Given the description of an element on the screen output the (x, y) to click on. 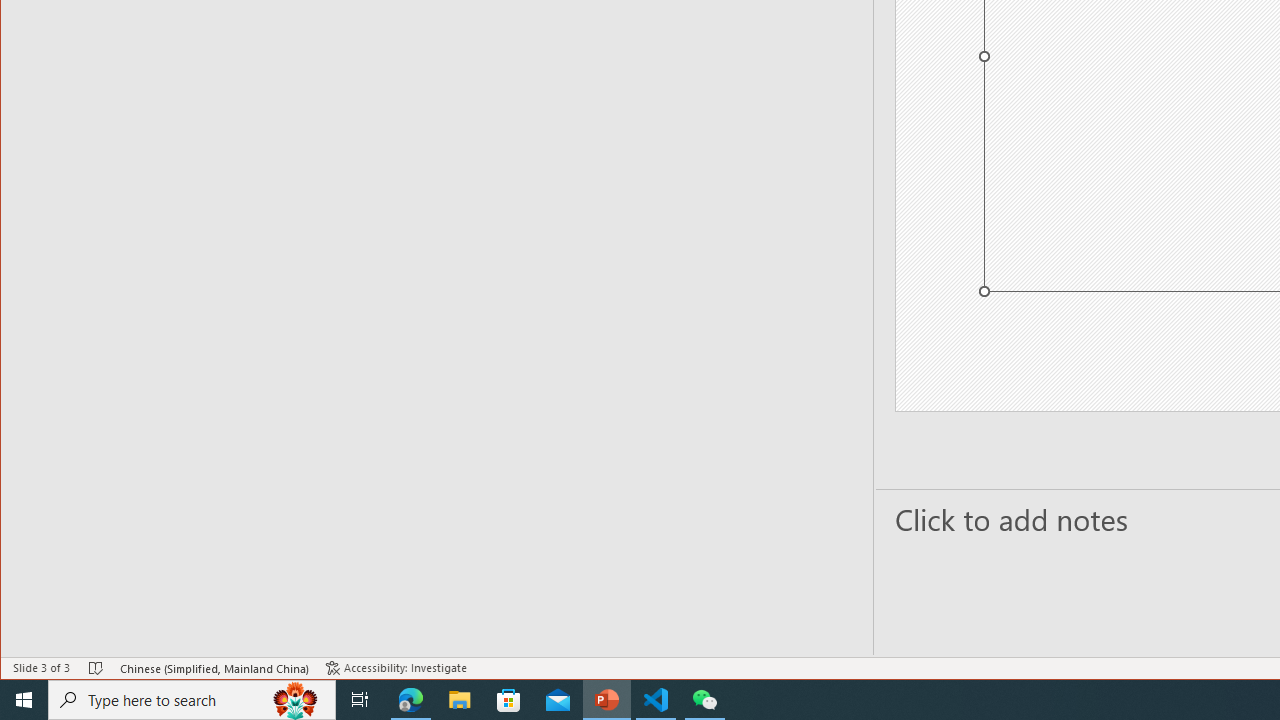
WeChat - 1 running window (704, 699)
Microsoft Edge - 1 running window (411, 699)
